Given the description of an element on the screen output the (x, y) to click on. 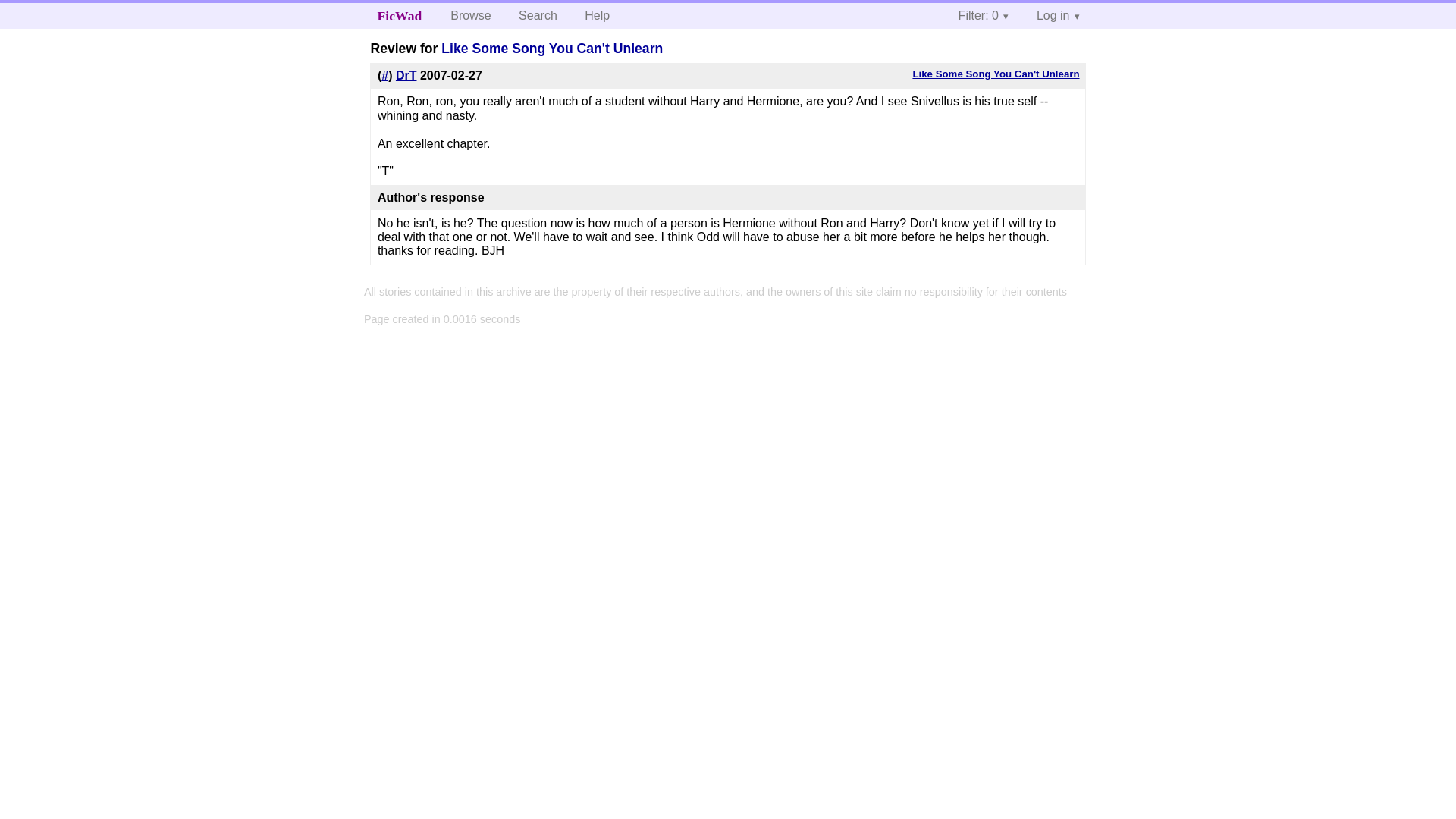
Like Some Song You Can't Unlearn (551, 48)
2007-02-27 05:06:09 AM (450, 74)
Like Some Song You Can't Unlearn (995, 73)
Filter: 0 (984, 15)
Search (537, 15)
DrT (406, 74)
Browse (470, 15)
Help (596, 15)
FicWad (399, 15)
Log in (1058, 15)
